Given the description of an element on the screen output the (x, y) to click on. 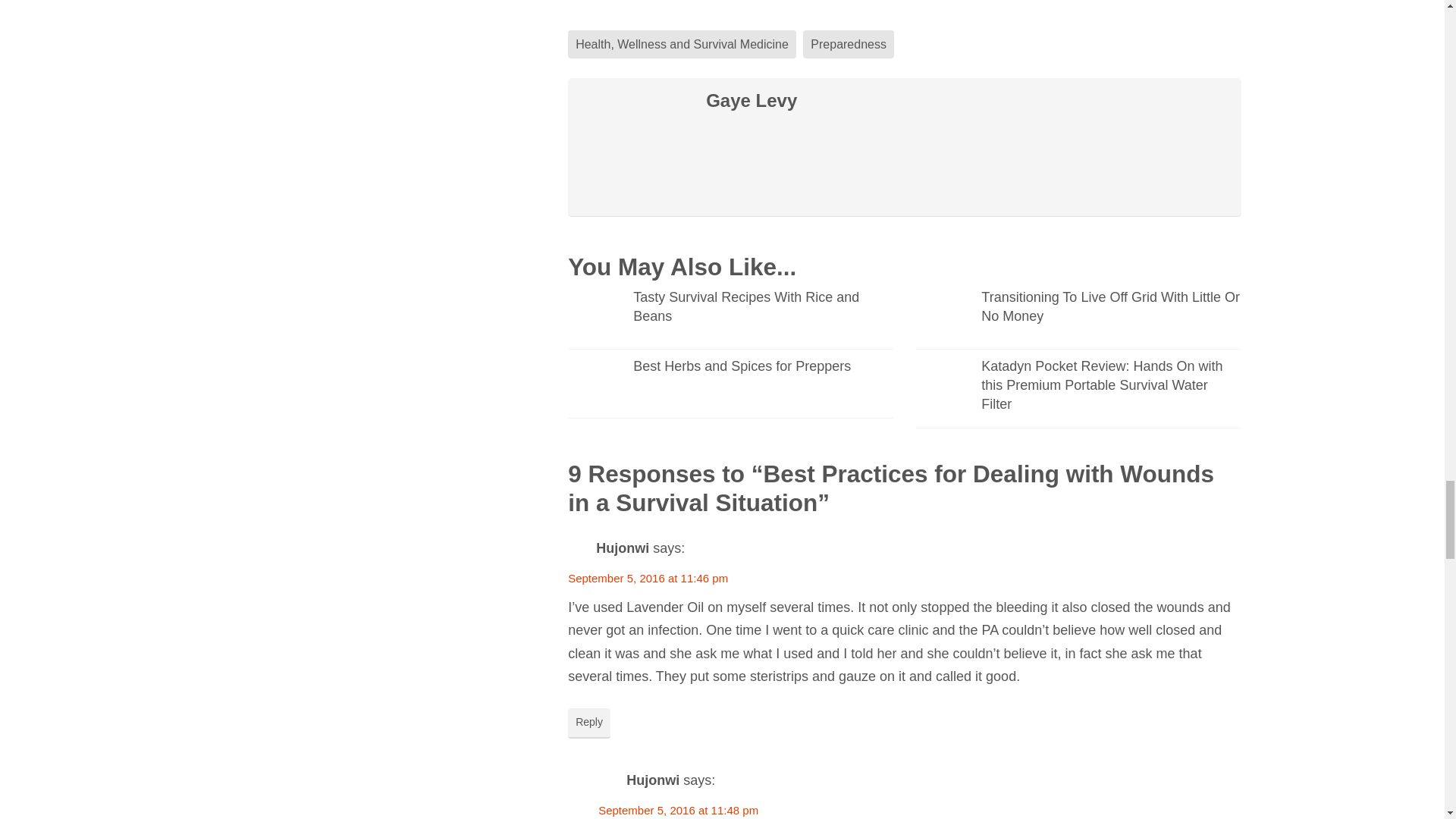
Gravatar for Hujonwi (579, 549)
Gravatar for Hujonwi (610, 781)
Transitioning To Live Off Grid With Little Or No Money (1078, 318)
Best Herbs and Spices for Preppers (730, 387)
Tasty Survival Recipes With Rice and Beans (730, 318)
Gaye Levy (903, 101)
